Given the description of an element on the screen output the (x, y) to click on. 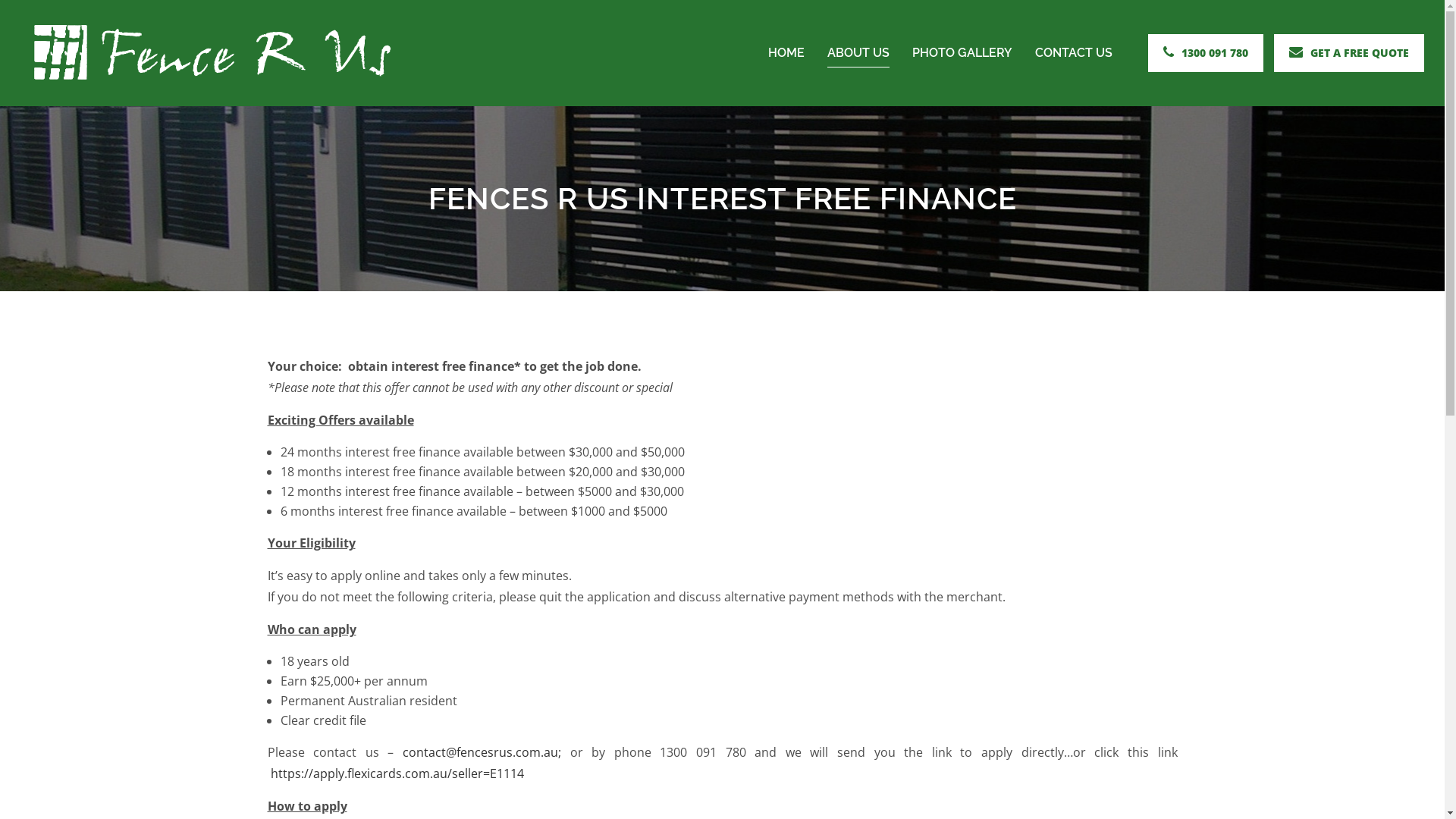
ABOUT US Element type: text (857, 53)
HOME Element type: text (785, 53)
 https://apply.flexicards.com.au/seller=E1114 Element type: text (394, 773)
1300 091 780 Element type: text (1205, 53)
GET A FREE QUOTE Element type: text (1349, 53)
CONTACT US Element type: text (1073, 53)
PHOTO GALLERY Element type: text (961, 53)
contact@fencesrus.com.au; Element type: text (481, 751)
